Given the description of an element on the screen output the (x, y) to click on. 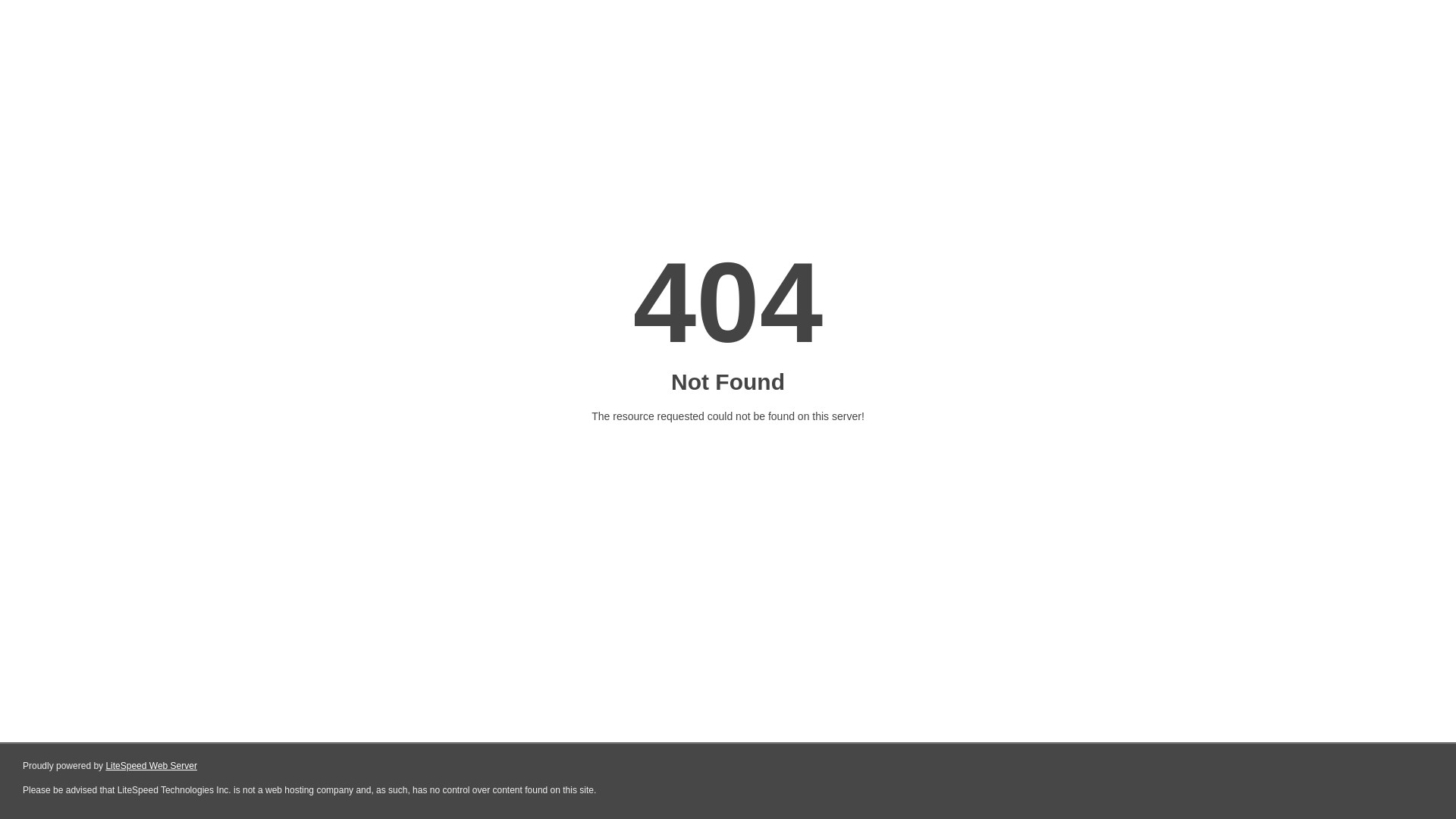
LiteSpeed Web Server Element type: text (151, 765)
